Given the description of an element on the screen output the (x, y) to click on. 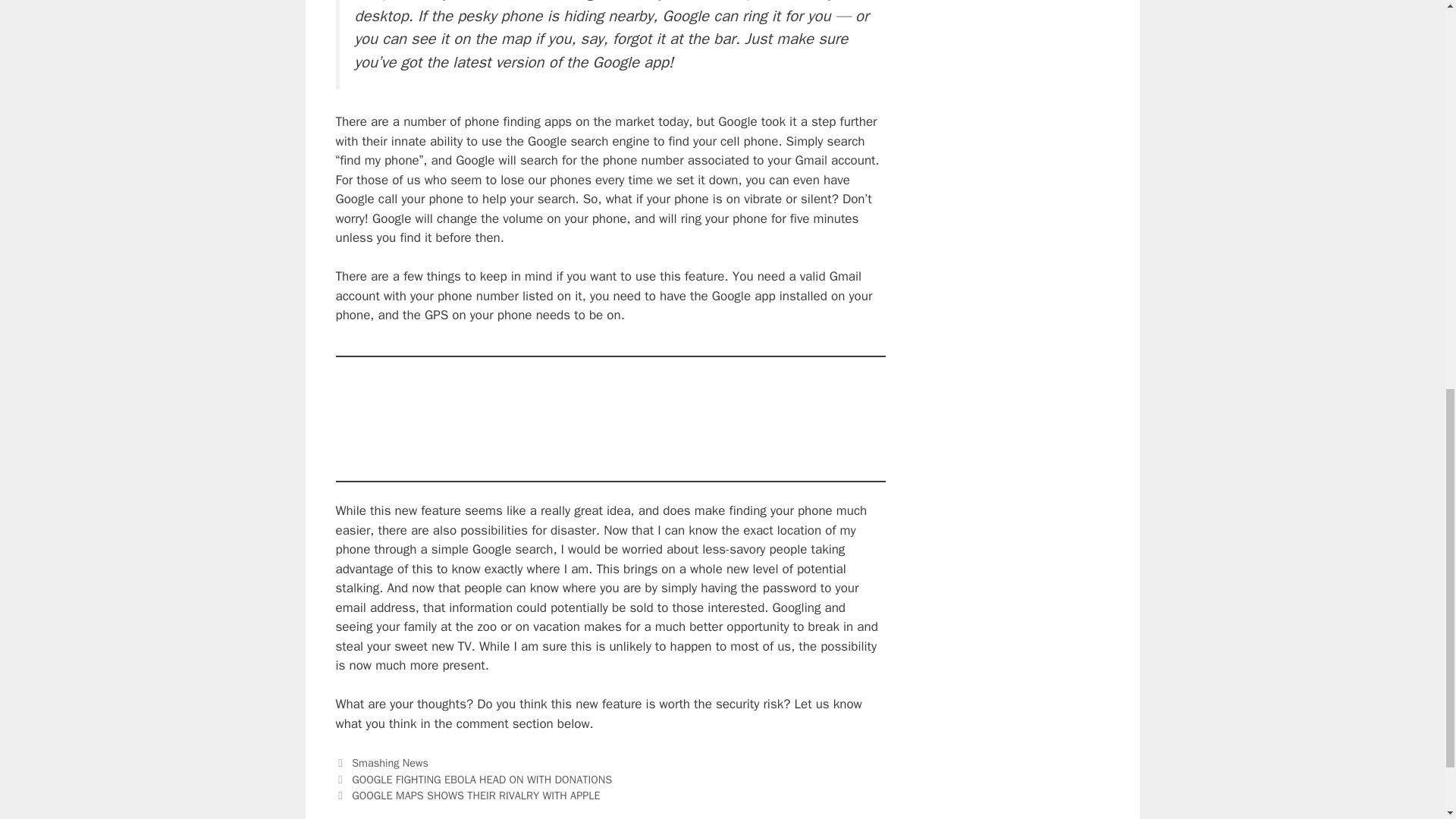
GOOGLE MAPS SHOWS THEIR RIVALRY WITH APPLE (475, 795)
Smashing News (390, 762)
GOOGLE FIGHTING EBOLA HEAD ON WITH DONATIONS (481, 779)
